Given the description of an element on the screen output the (x, y) to click on. 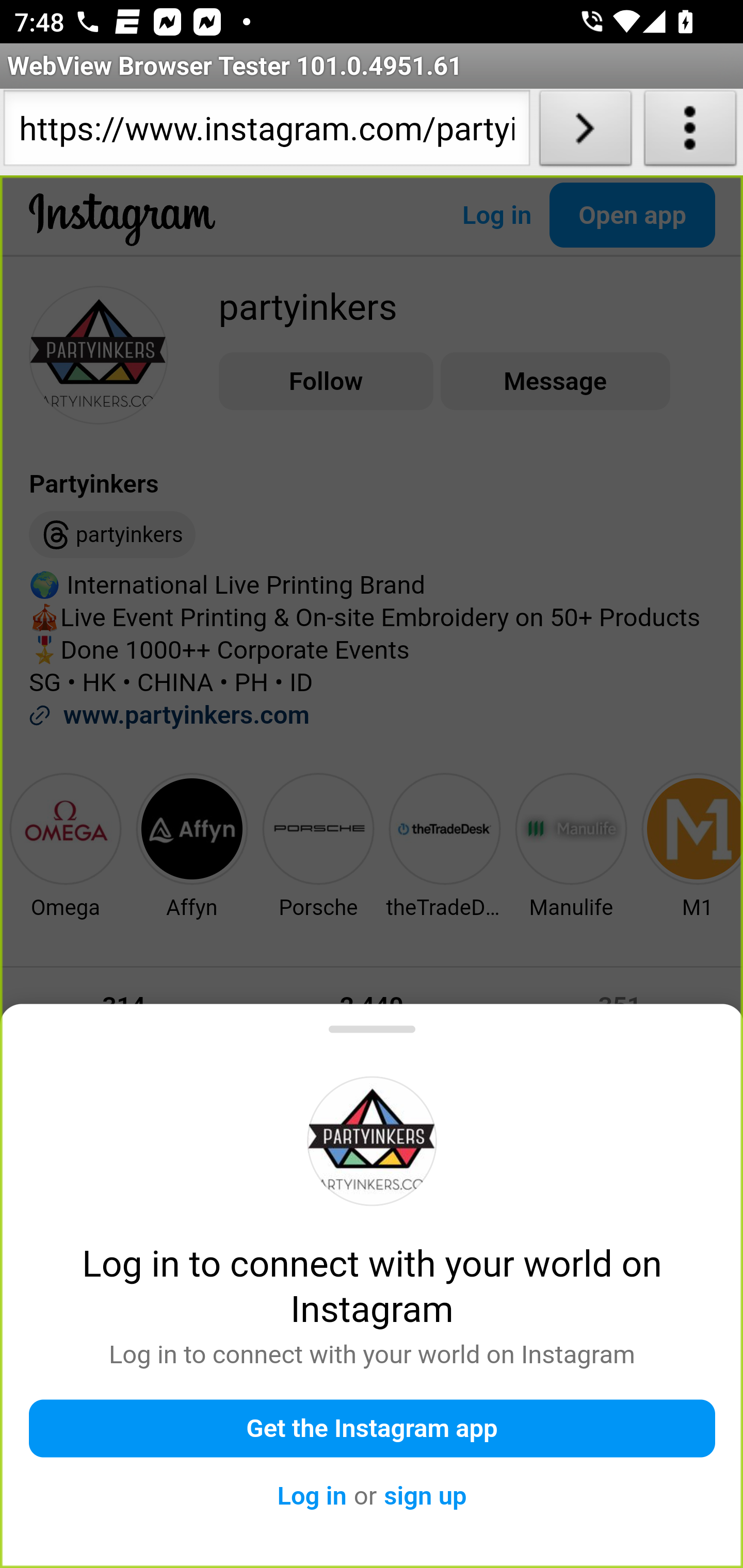
Load URL (585, 132)
About WebView (690, 132)
2,440 followers (371, 1021)
Get the Instagram app (372, 1428)
Log in (312, 1495)
sign up (424, 1495)
